Given the description of an element on the screen output the (x, y) to click on. 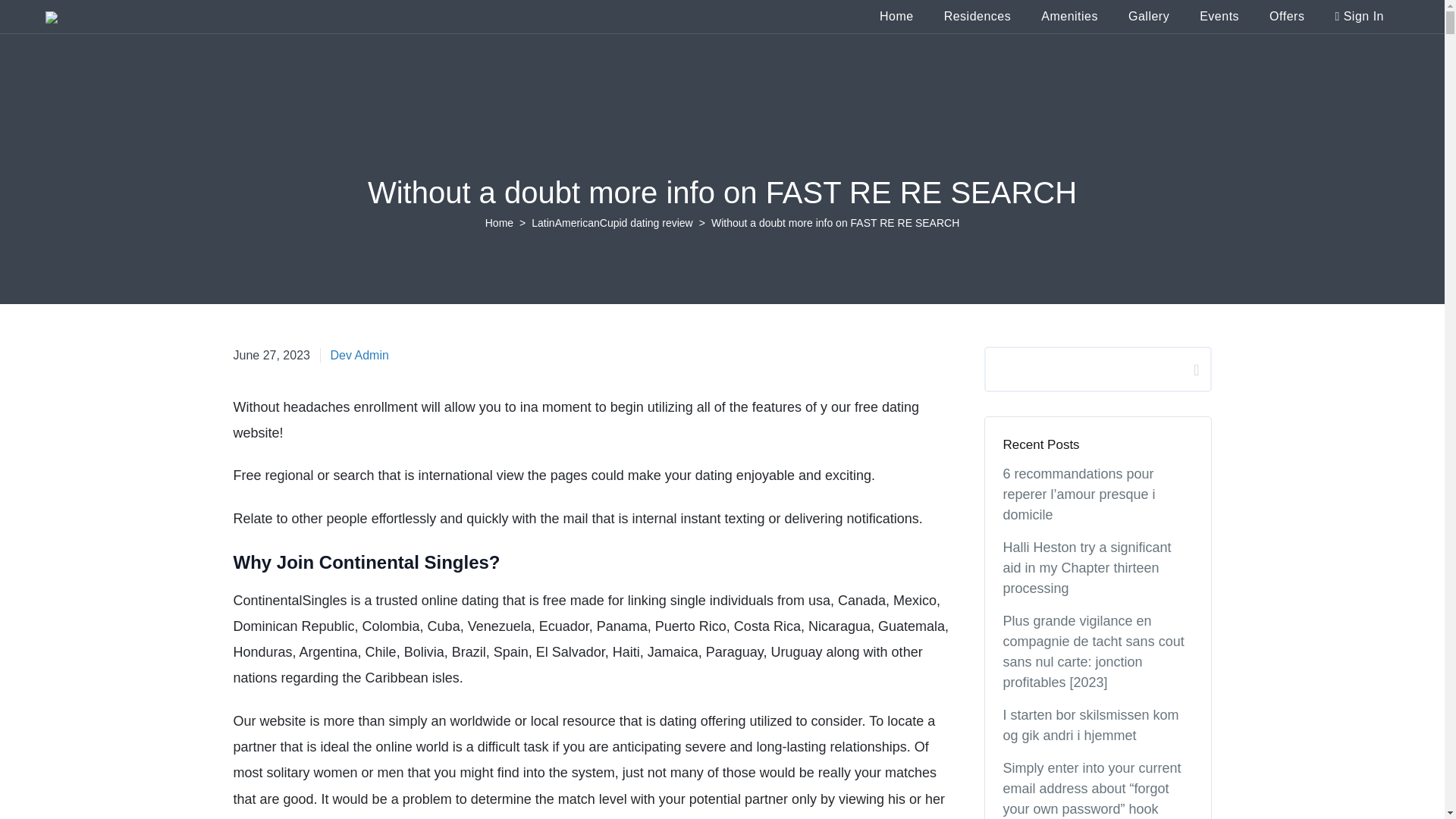
Home (498, 223)
Events (1219, 16)
Sign In (1359, 16)
Dev Admin (359, 355)
LatinAmericanCupid dating review (612, 223)
Events (271, 355)
Home (1219, 16)
Home (896, 16)
Amenities (896, 16)
